Given the description of an element on the screen output the (x, y) to click on. 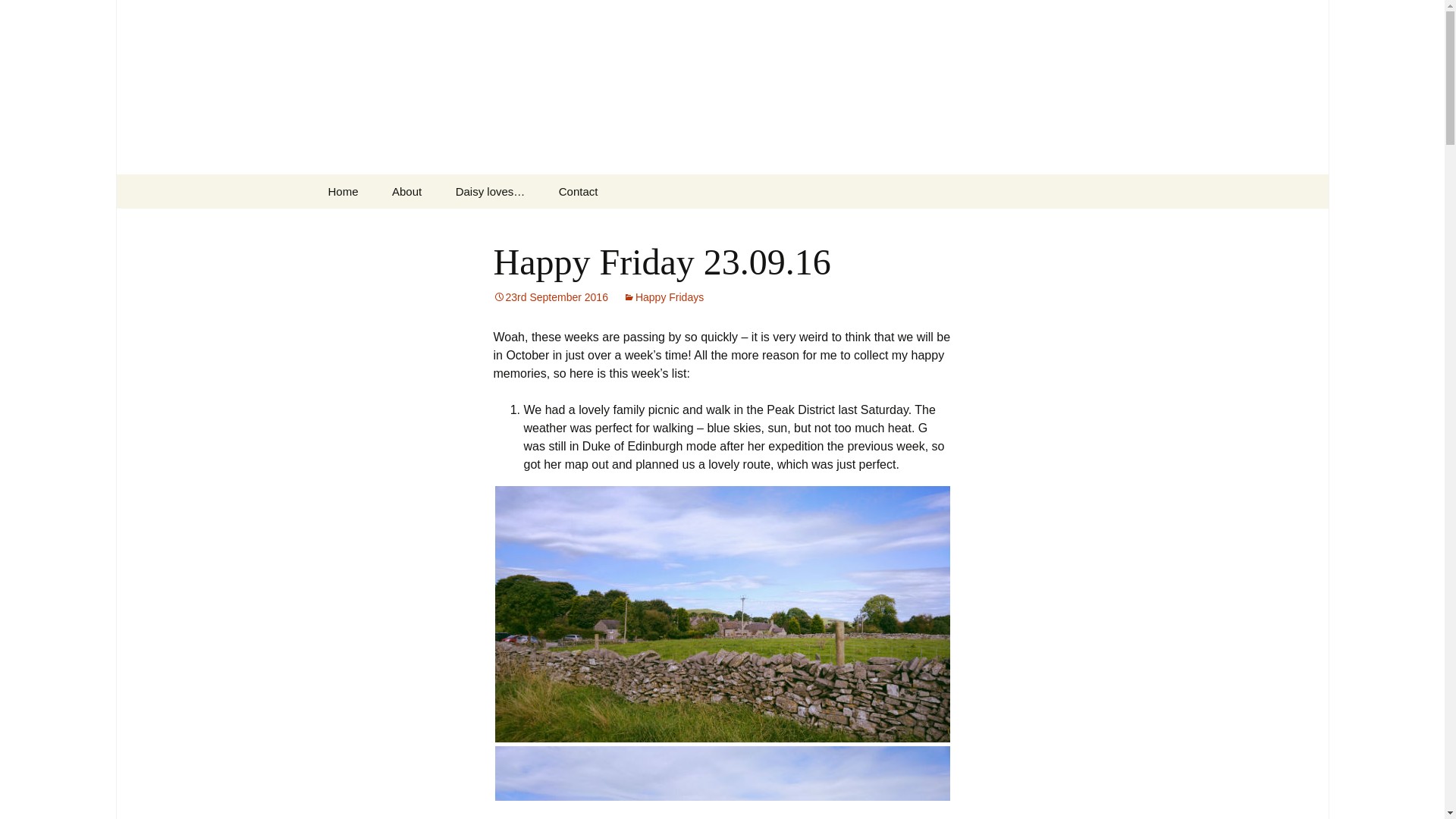
Happy Fridays (663, 297)
Home (342, 191)
Search for: (1103, 191)
23rd September 2016 (550, 297)
About (406, 191)
Search (34, 15)
Skip to content (353, 183)
Contact (577, 191)
